Given the description of an element on the screen output the (x, y) to click on. 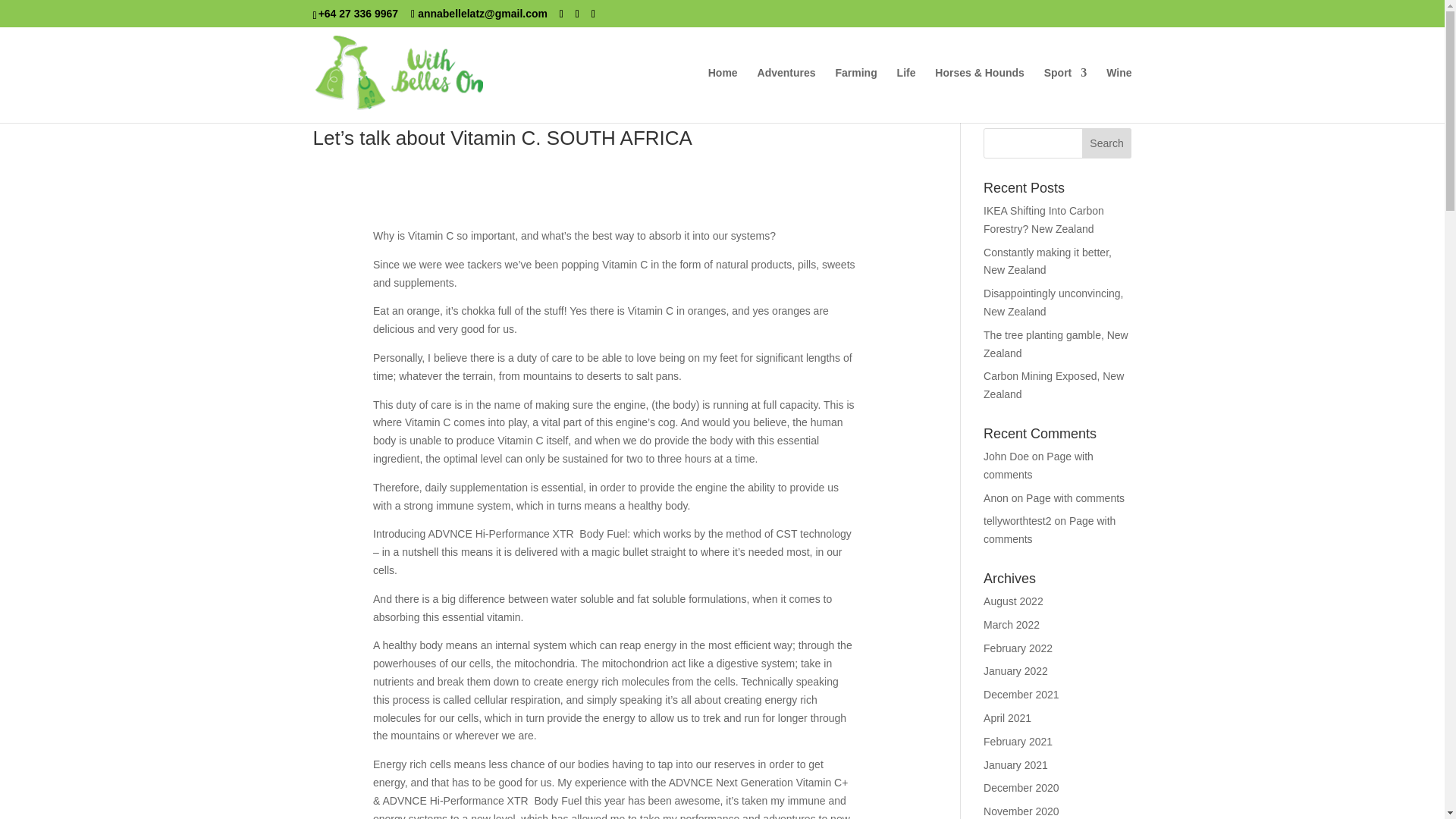
August 2022 (1013, 601)
March 2022 (1011, 624)
February 2021 (1018, 741)
Page with comments (1038, 465)
February 2022 (1018, 648)
IKEA Shifting Into Carbon Forestry? New Zealand (1043, 219)
April 2021 (1007, 717)
Carbon Mining Exposed, New Zealand (1054, 385)
Page with comments (1049, 530)
John Doe (1006, 456)
The tree planting gamble, New Zealand (1056, 344)
Page with comments (1075, 498)
Adventures (786, 94)
Search (1106, 142)
January 2021 (1016, 765)
